Given the description of an element on the screen output the (x, y) to click on. 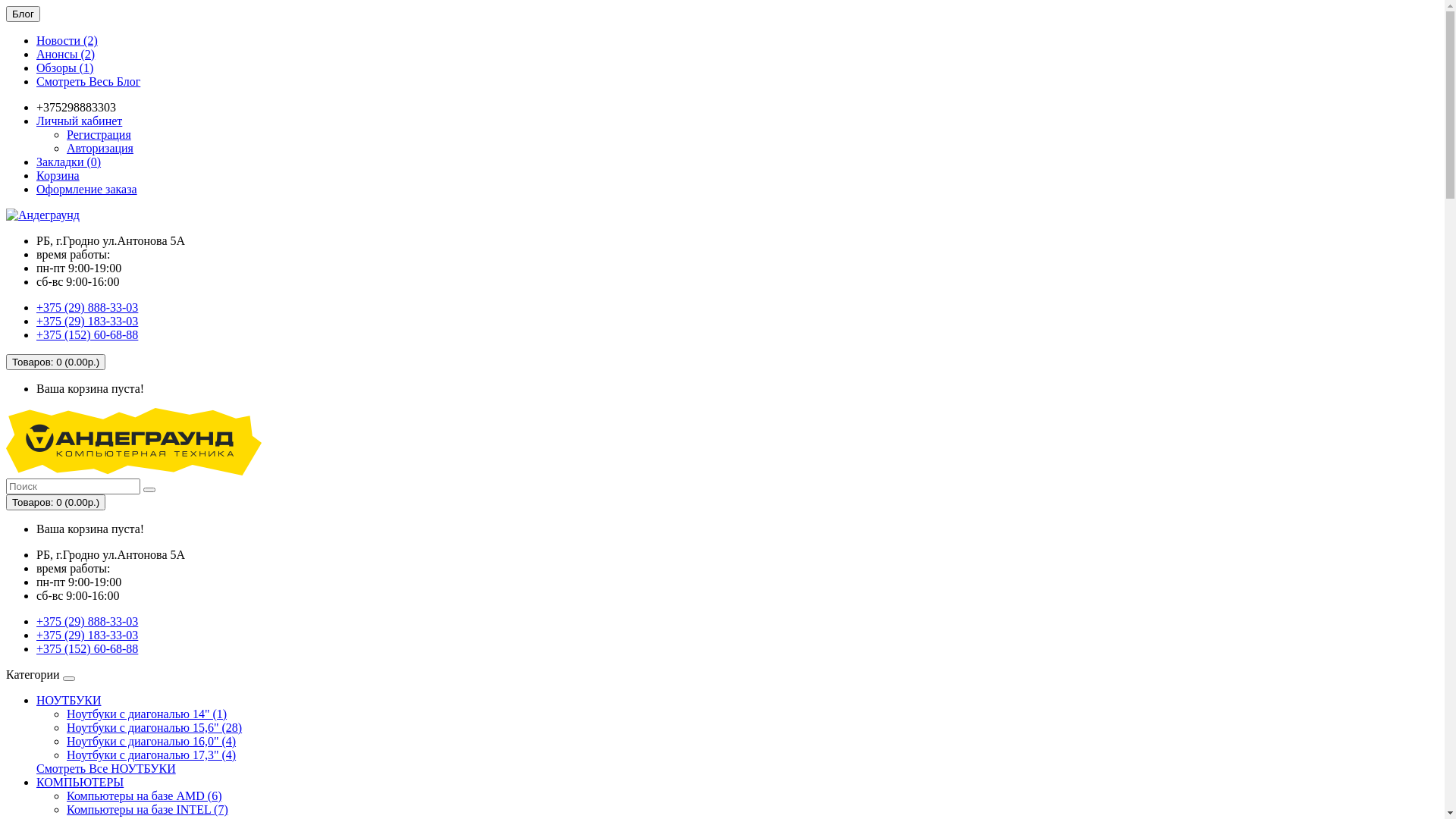
+375 (29) 888-33-03 Element type: text (87, 307)
+375 (29) 183-33-03 Element type: text (87, 634)
+375 (29) 183-33-03 Element type: text (87, 320)
+375 (29) 888-33-03 Element type: text (87, 621)
+375 (152) 60-68-88 Element type: text (87, 334)
+375 (152) 60-68-88 Element type: text (87, 648)
